Given the description of an element on the screen output the (x, y) to click on. 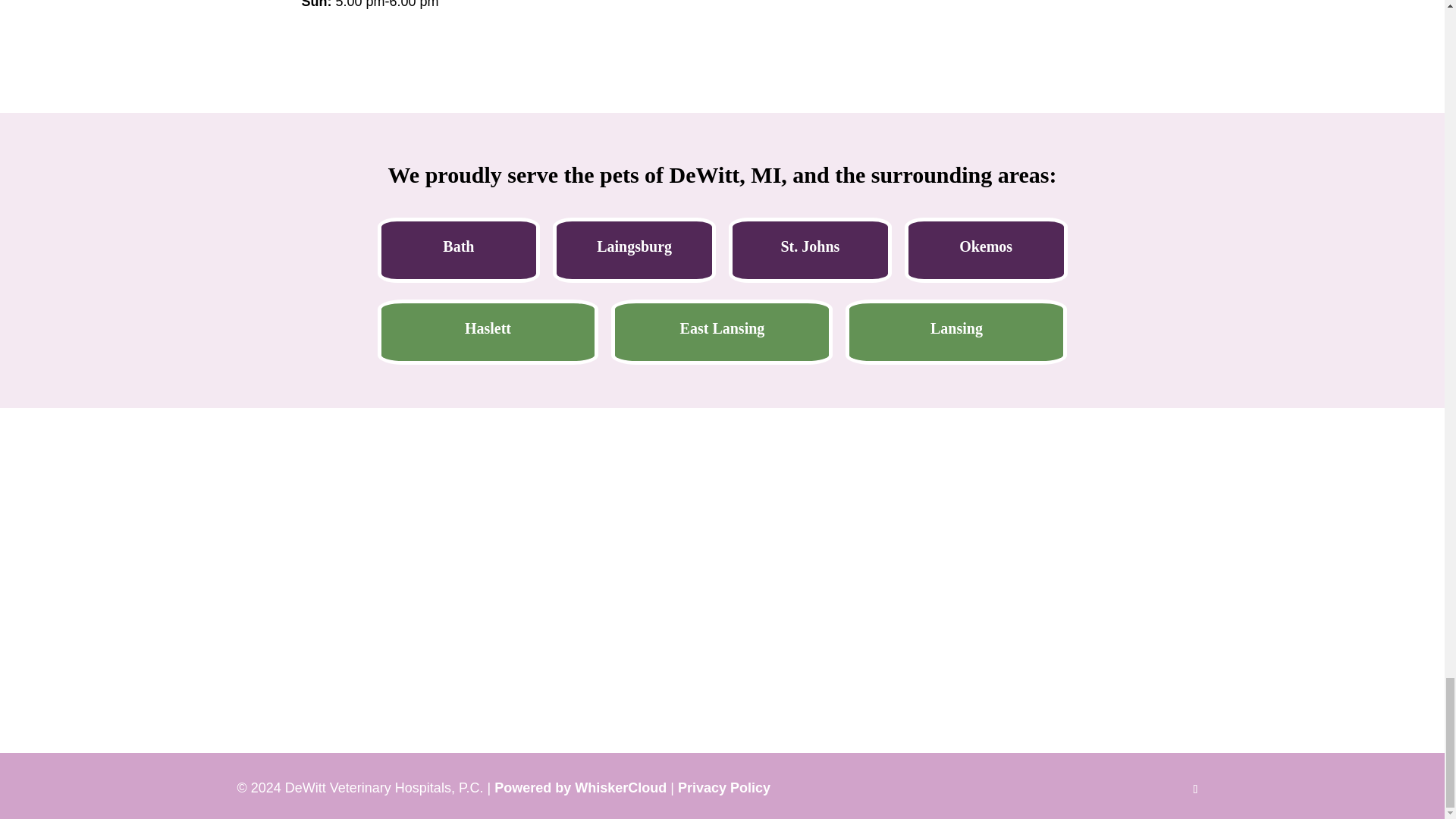
Follow on Facebook (1194, 789)
